Given the description of an element on the screen output the (x, y) to click on. 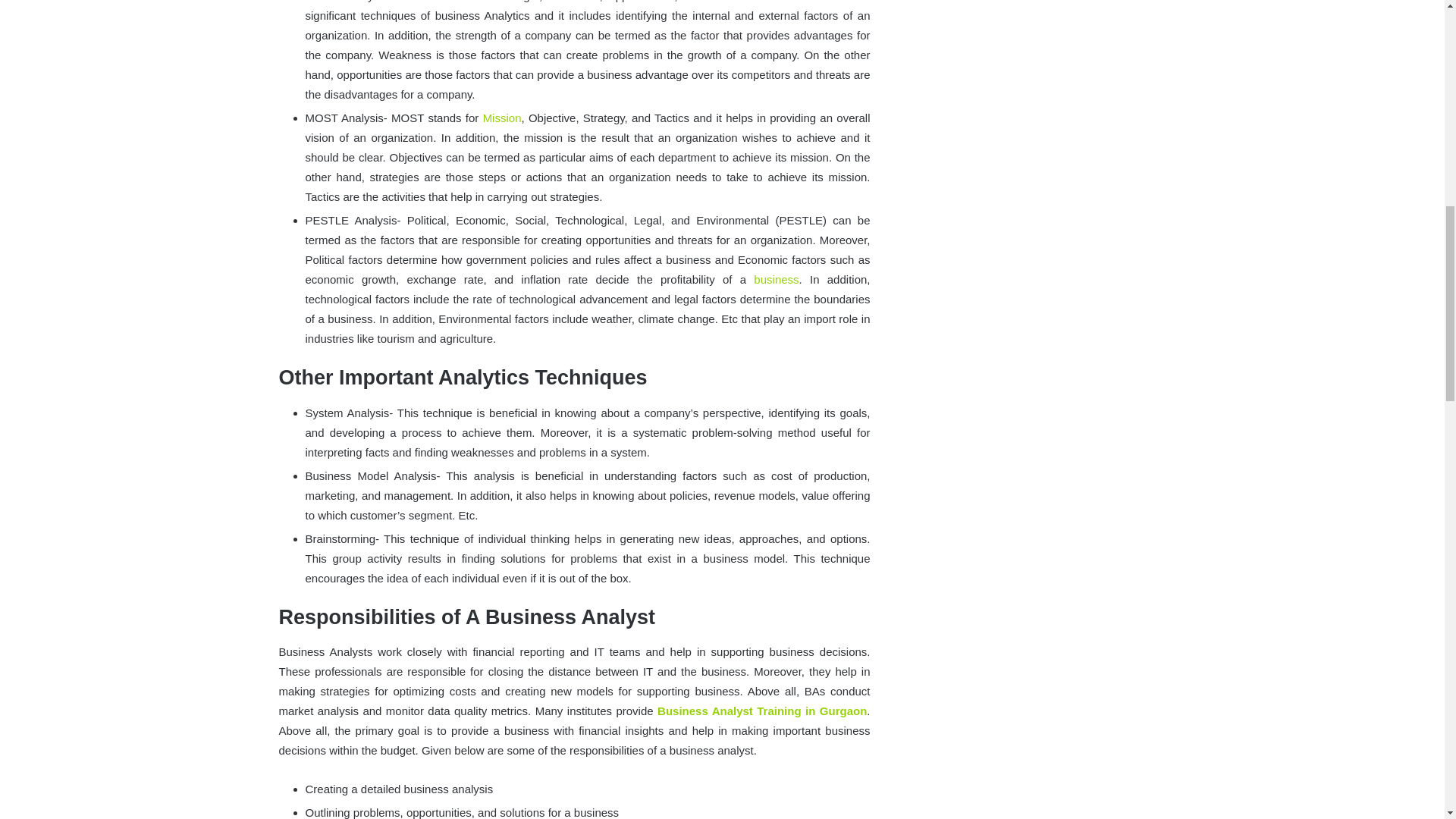
Business Analyst Training in Gurgaon (762, 710)
Mission (502, 117)
business (775, 278)
